Given the description of an element on the screen output the (x, y) to click on. 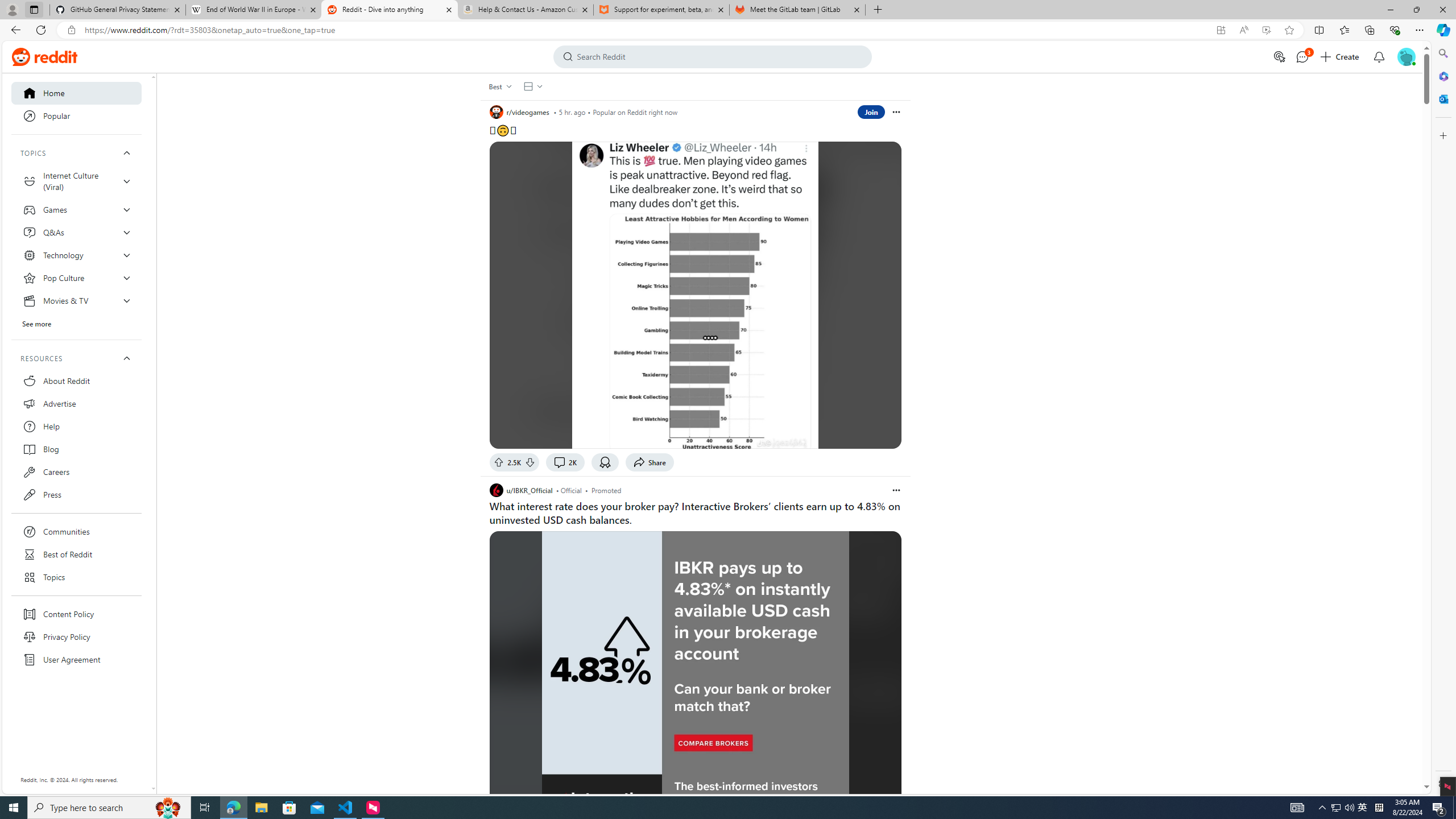
Create Create post (1340, 56)
Privacy Policy (76, 636)
Advertise on Reddit (1279, 56)
Popular (76, 115)
Open chat (1301, 56)
